Given the description of an element on the screen output the (x, y) to click on. 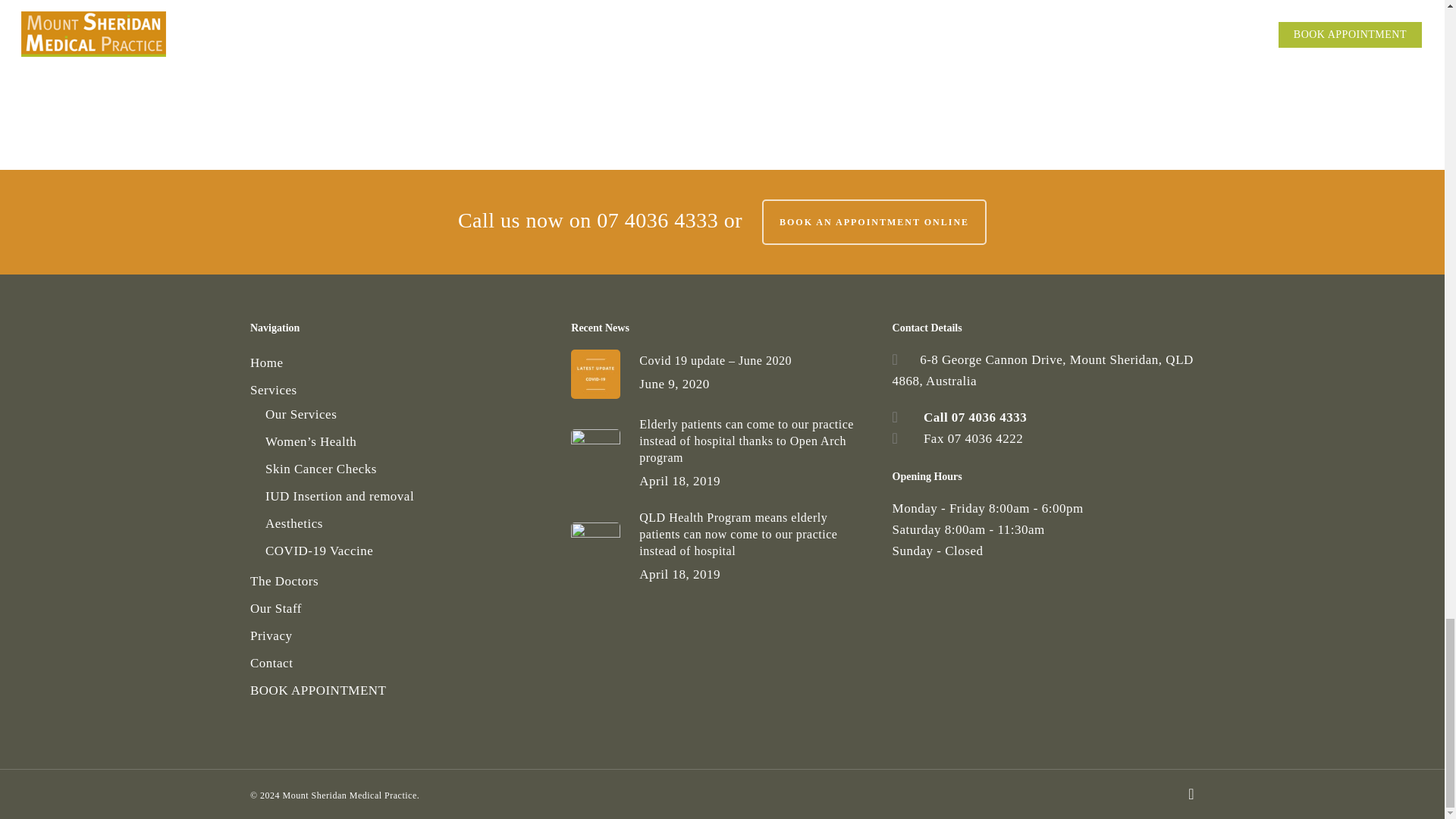
Our Staff (400, 608)
The Doctors (400, 581)
COVID-19 Vaccine (407, 550)
Privacy (400, 636)
Aesthetics (407, 523)
Home (400, 362)
IUD Insertion and removal (407, 496)
Services (400, 390)
Skin Cancer Checks (407, 468)
BOOK AN APPOINTMENT ONLINE (874, 221)
